Given the description of an element on the screen output the (x, y) to click on. 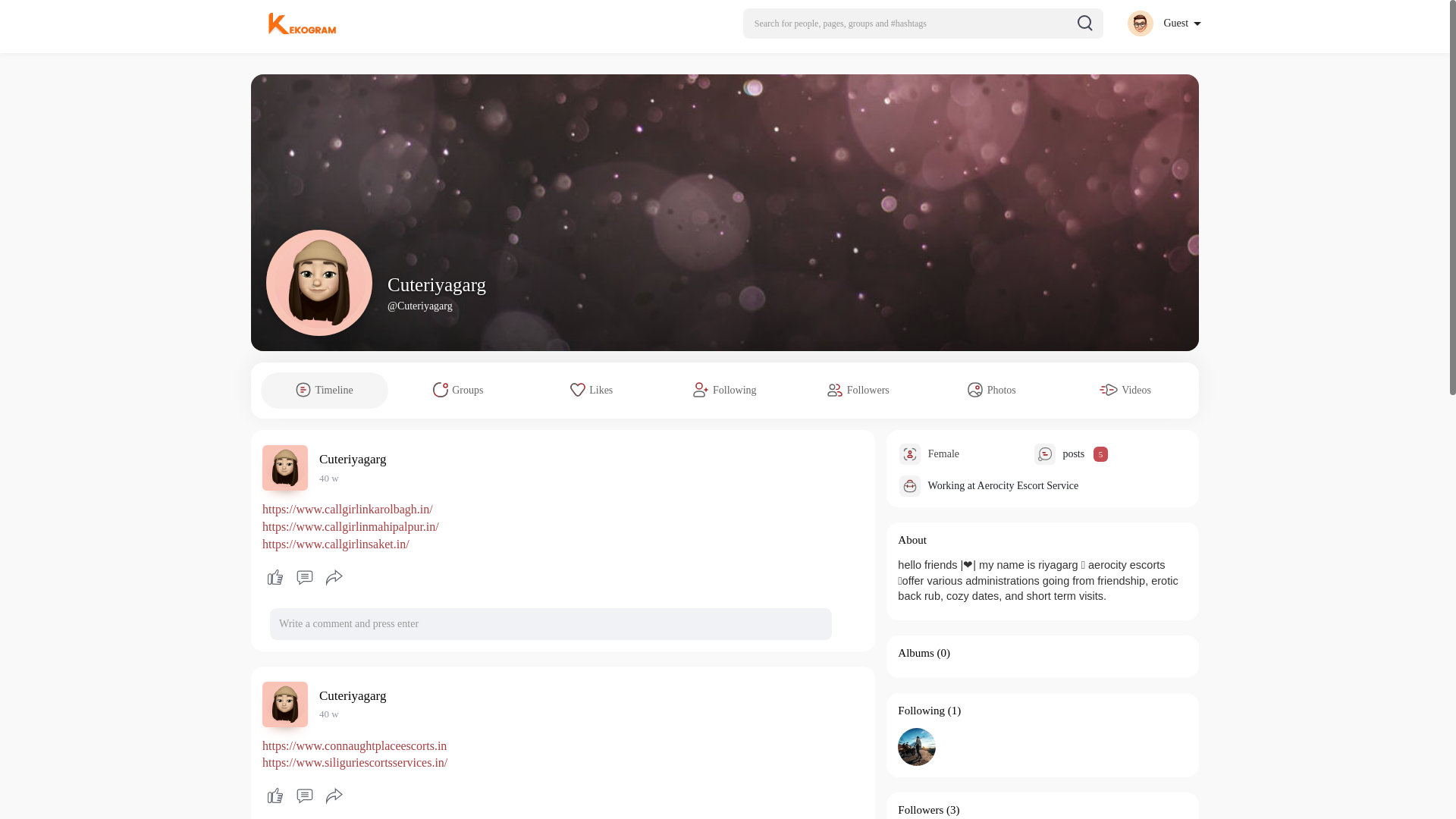
Likes (591, 390)
Comments (304, 577)
Share (334, 577)
Groups (457, 390)
Videos (1125, 390)
Photos (991, 390)
Guest (1163, 23)
40 w (328, 478)
Timeline (324, 390)
40 w (328, 713)
